Given the description of an element on the screen output the (x, y) to click on. 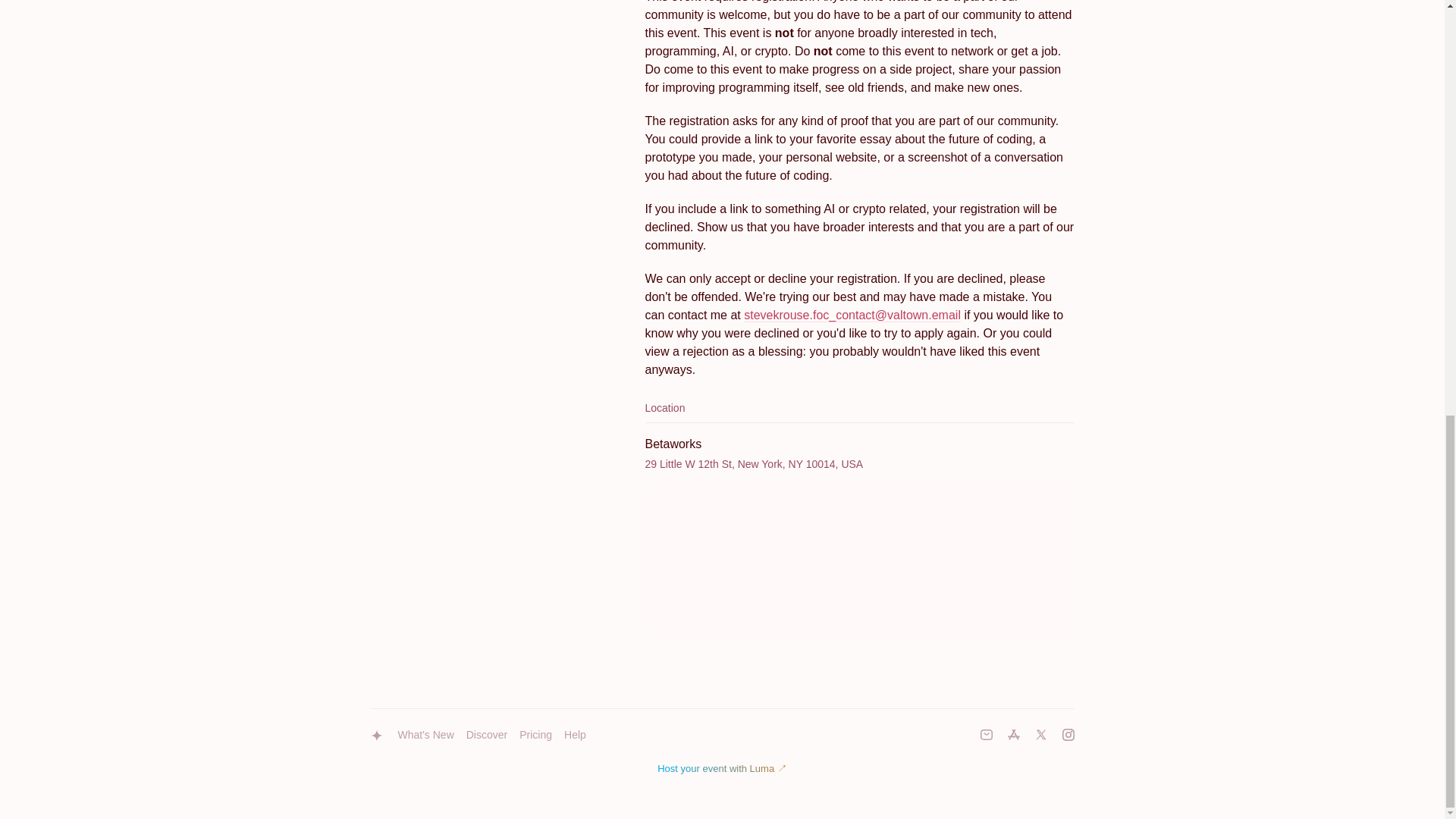
Discover (486, 735)
Pricing (535, 735)
What's New (425, 735)
Help (574, 735)
